Given the description of an element on the screen output the (x, y) to click on. 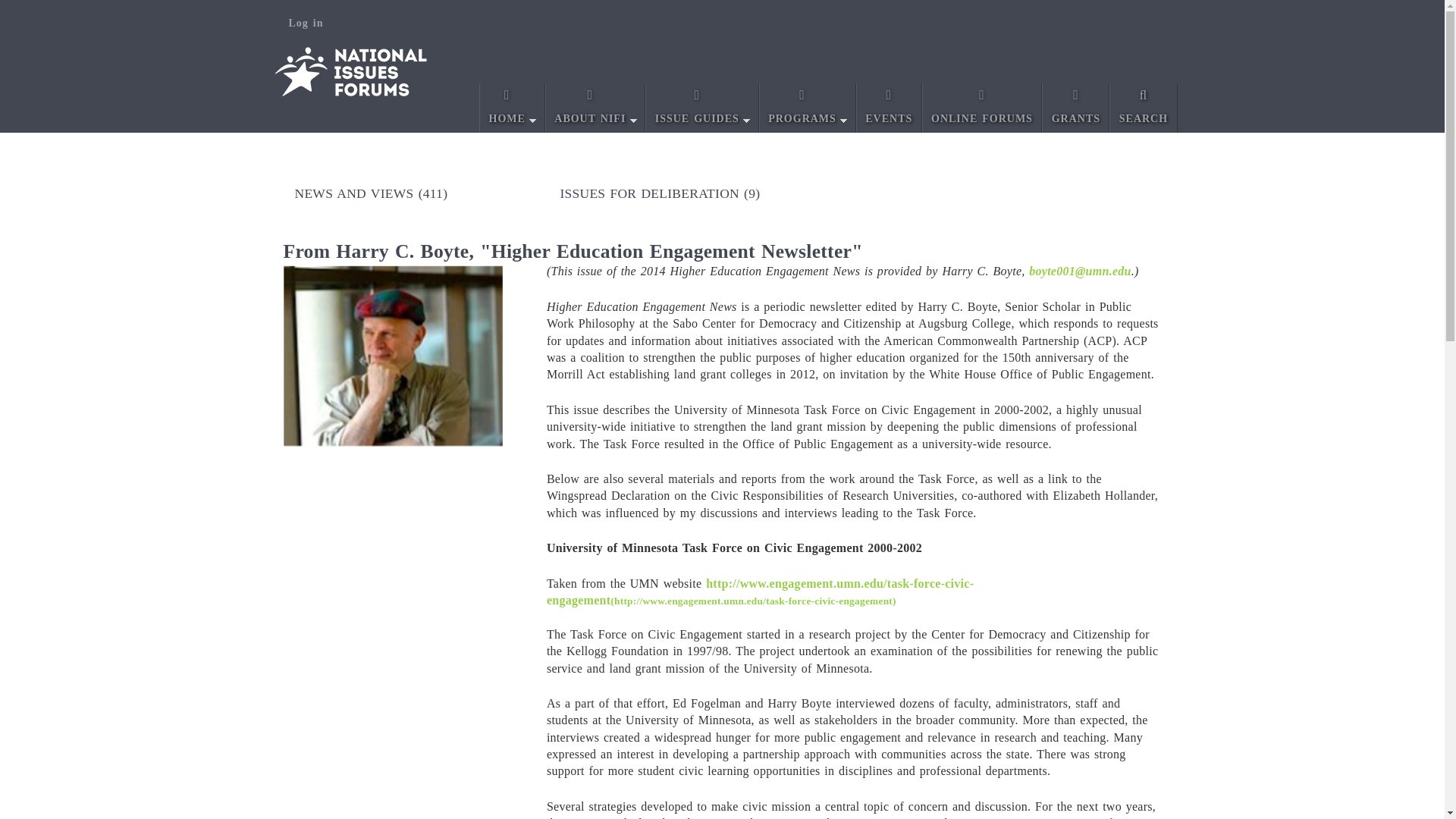
GRANTS (1075, 107)
ONLINE FORUMS (982, 107)
EVENTS (889, 107)
Log in (305, 22)
Harry C. Boyte (393, 355)
